Given the description of an element on the screen output the (x, y) to click on. 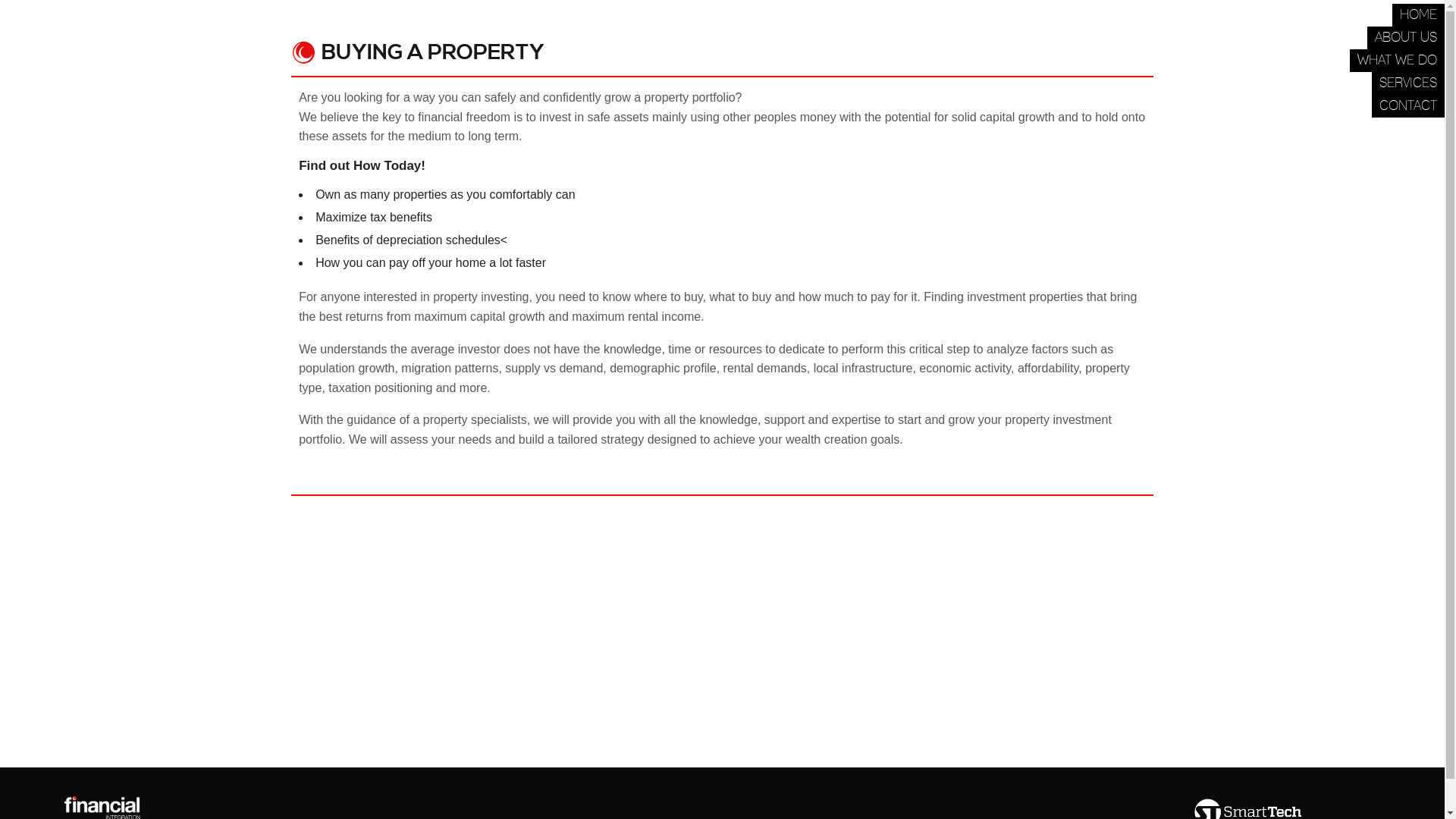
ABOUT US Element type: text (1405, 37)
CONTACT Element type: text (1407, 105)
WHAT WE DO Element type: text (1396, 60)
SERVICES Element type: text (1407, 83)
HOME Element type: text (1418, 14)
